Given the description of an element on the screen output the (x, y) to click on. 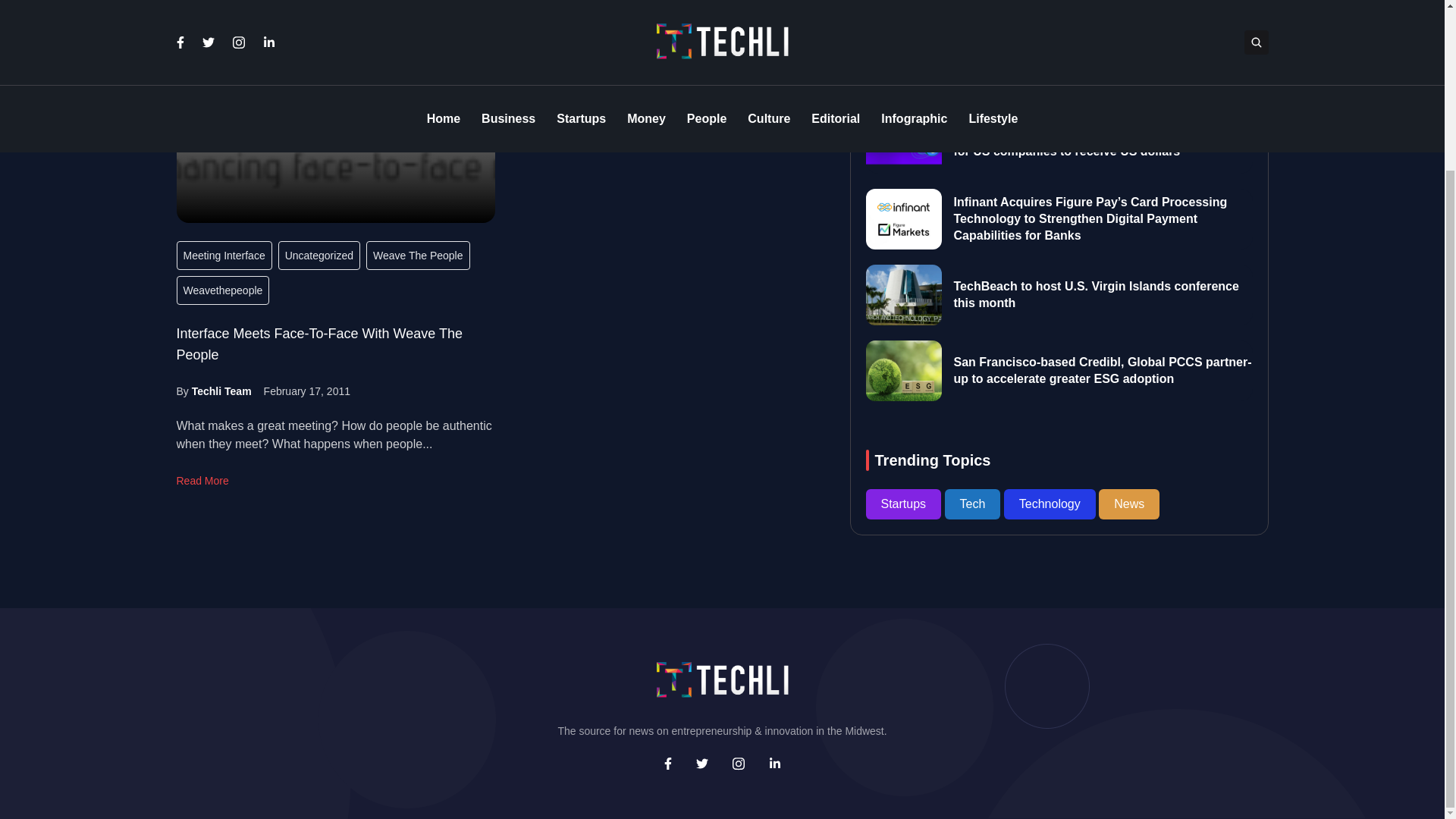
Read More (202, 480)
Tech (974, 410)
Techli Team (221, 390)
Interface Meets Face-To-Face With Weave The People (318, 344)
Weave The People (418, 255)
TechBeach to host U.S. Virgin Islands conference this month (1096, 202)
Startups (905, 410)
Interface Meets Face-To-Face With Weave The People (335, 111)
Meeting Interface (223, 255)
Weavethepeople (222, 290)
Uncategorized (318, 255)
